Given the description of an element on the screen output the (x, y) to click on. 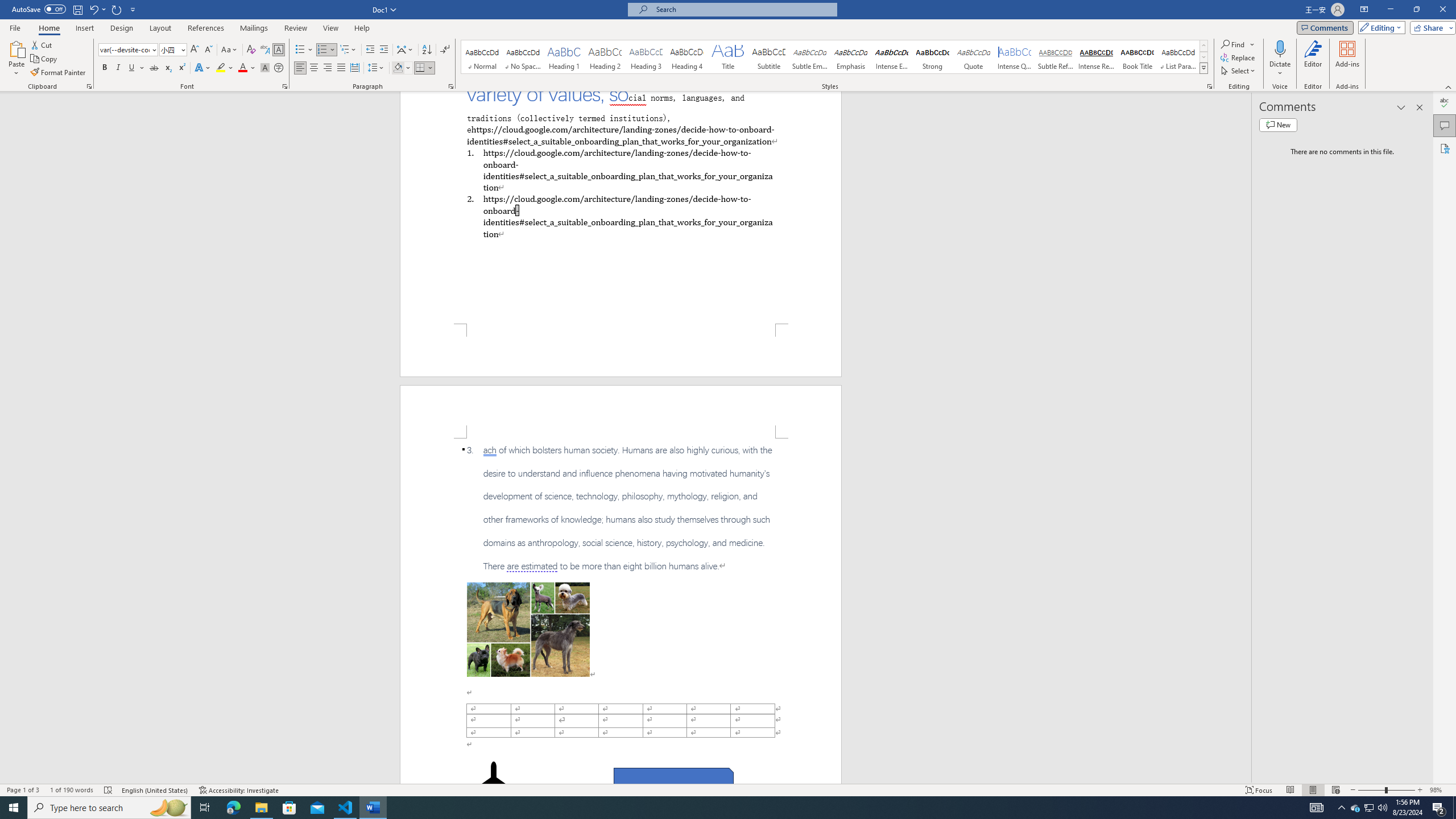
AutomationID: QuickStylesGallery (834, 56)
Zoom (1386, 790)
Spelling and Grammar Check Errors (108, 790)
Strikethrough (154, 67)
Text Highlight Color (224, 67)
Book Title (1136, 56)
Heading 1 (564, 56)
